Given the description of an element on the screen output the (x, y) to click on. 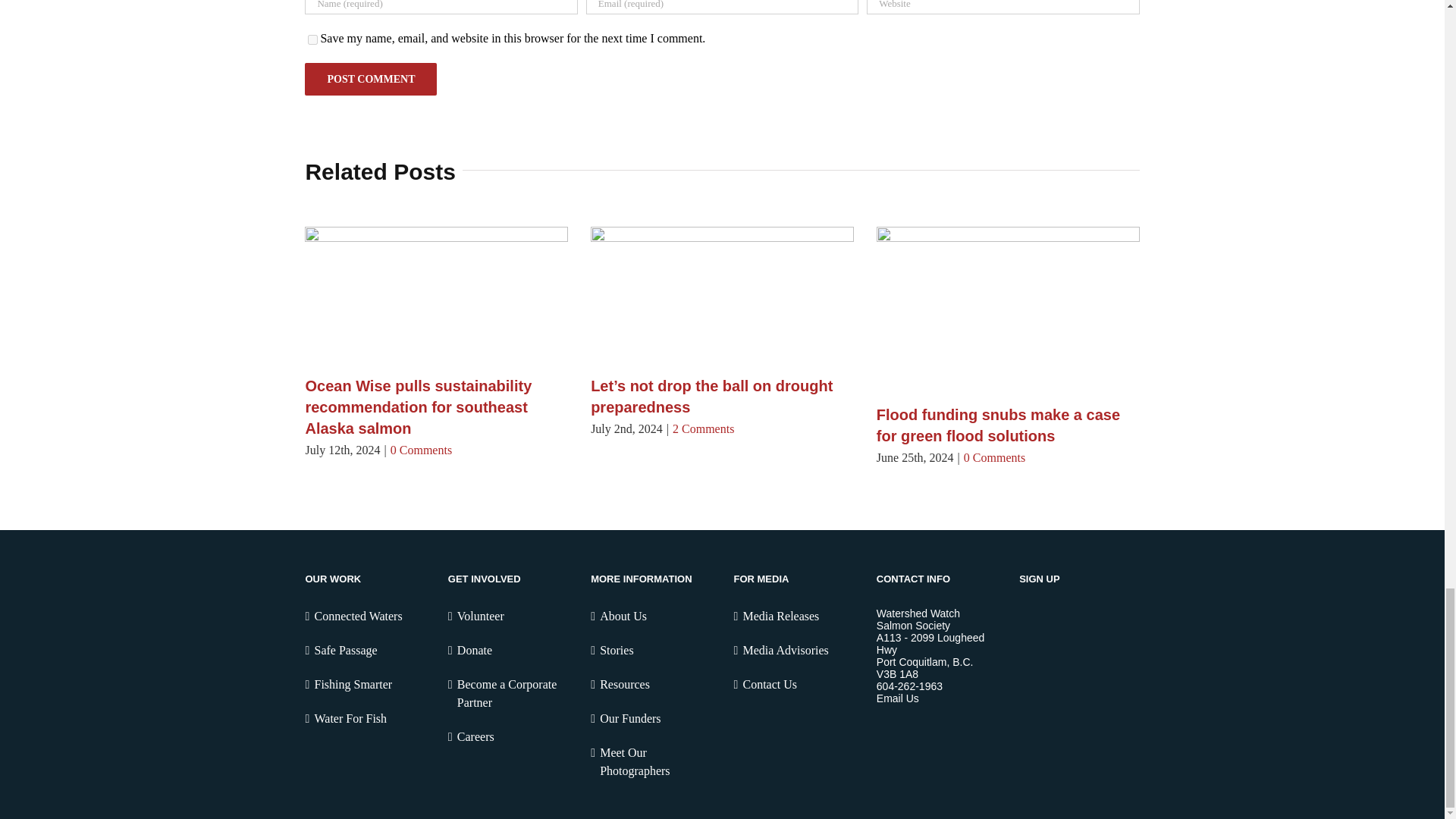
yes (312, 40)
Post Comment (370, 79)
